Given the description of an element on the screen output the (x, y) to click on. 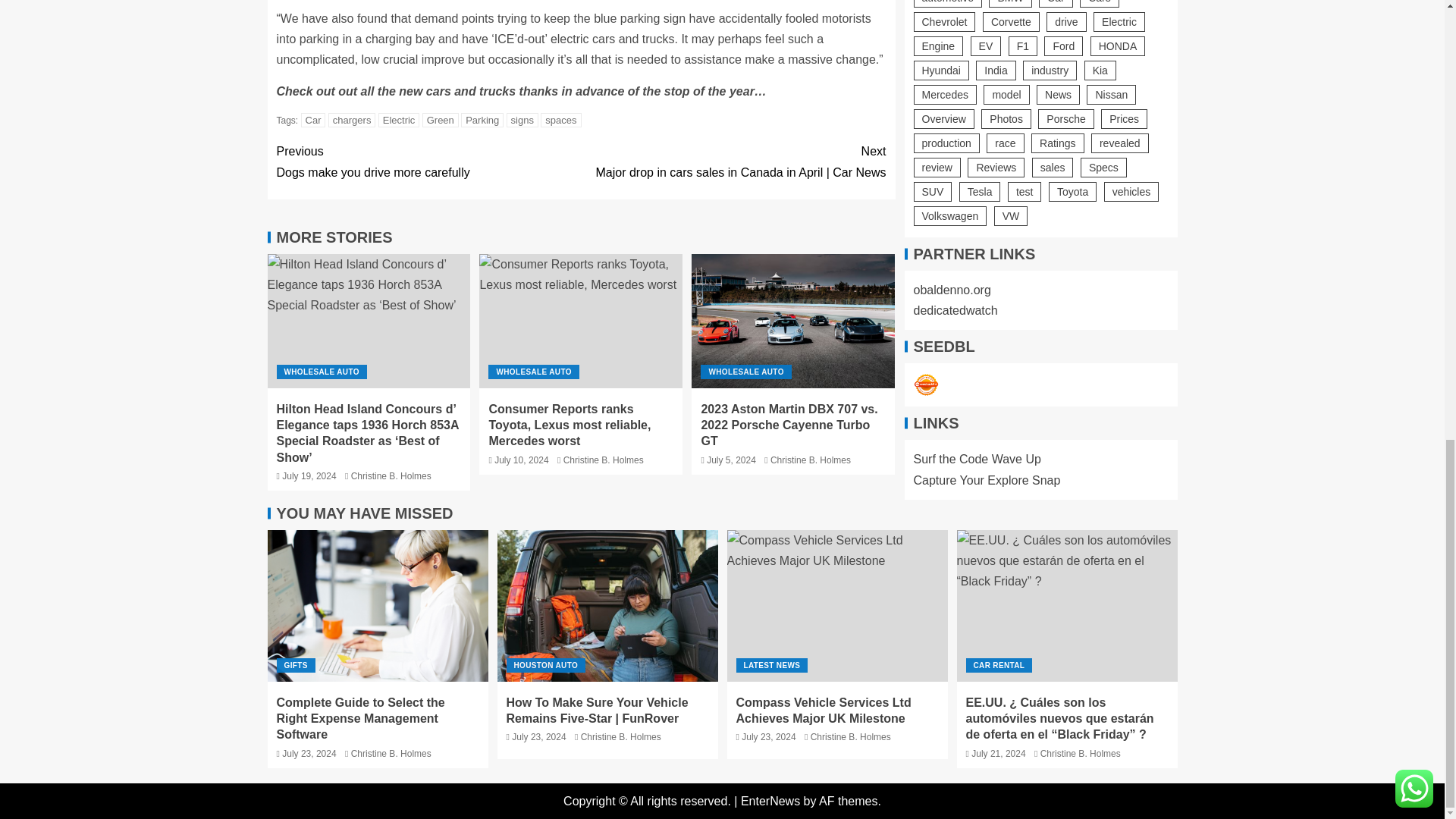
Christine B. Holmes (390, 475)
Compass Vehicle Services Ltd Achieves Major UK Milestone (836, 605)
chargers (352, 120)
WHOLESALE AUTO (428, 160)
2023 Aston Martin DBX 707 vs. 2022 Porsche Cayenne Turbo GT (321, 371)
spaces (793, 320)
Electric (560, 120)
Parking (399, 120)
Seedbacklink (482, 120)
Car (925, 340)
WHOLESALE AUTO (313, 120)
